Given the description of an element on the screen output the (x, y) to click on. 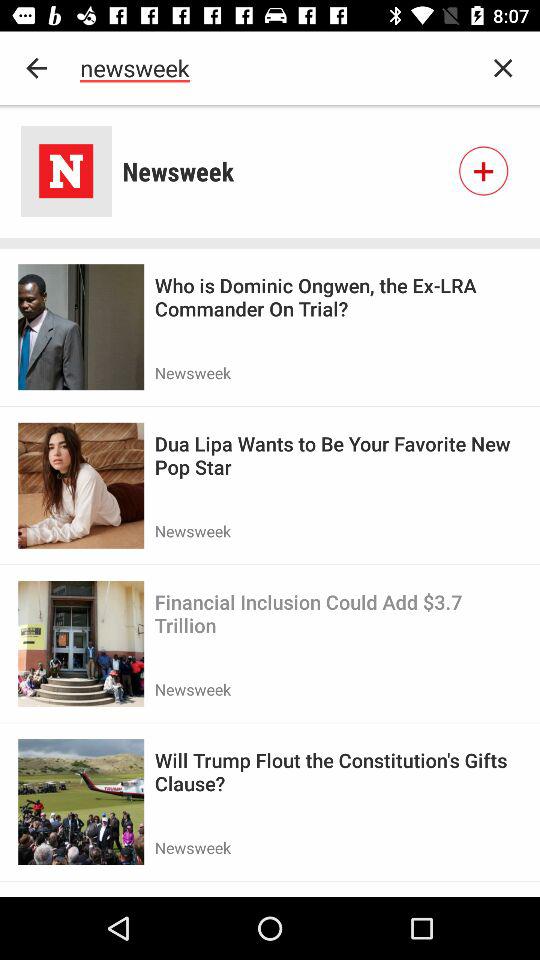
add newseek to news feed (483, 171)
